Given the description of an element on the screen output the (x, y) to click on. 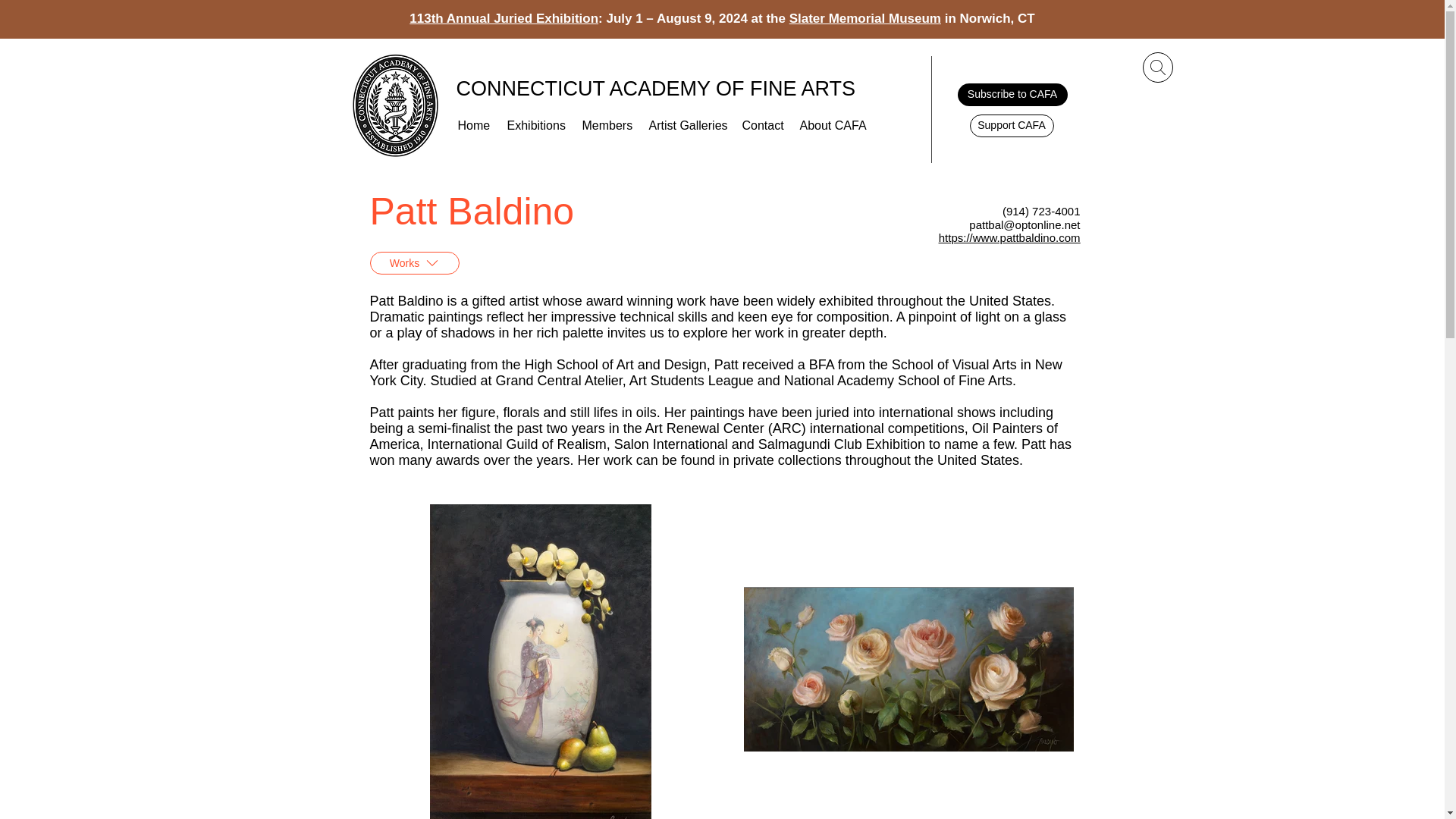
Home (474, 125)
CONNECTICUT ACADEMY OF FINE ARTS (656, 87)
113th Annual Juried Exhibition (503, 18)
Artist Galleries (688, 125)
Contact (762, 125)
Exhibitions (536, 125)
Subscribe to CAFA (1011, 94)
Slater Memorial Museum (864, 18)
Works (414, 262)
Support CAFA (1010, 125)
